Given the description of an element on the screen output the (x, y) to click on. 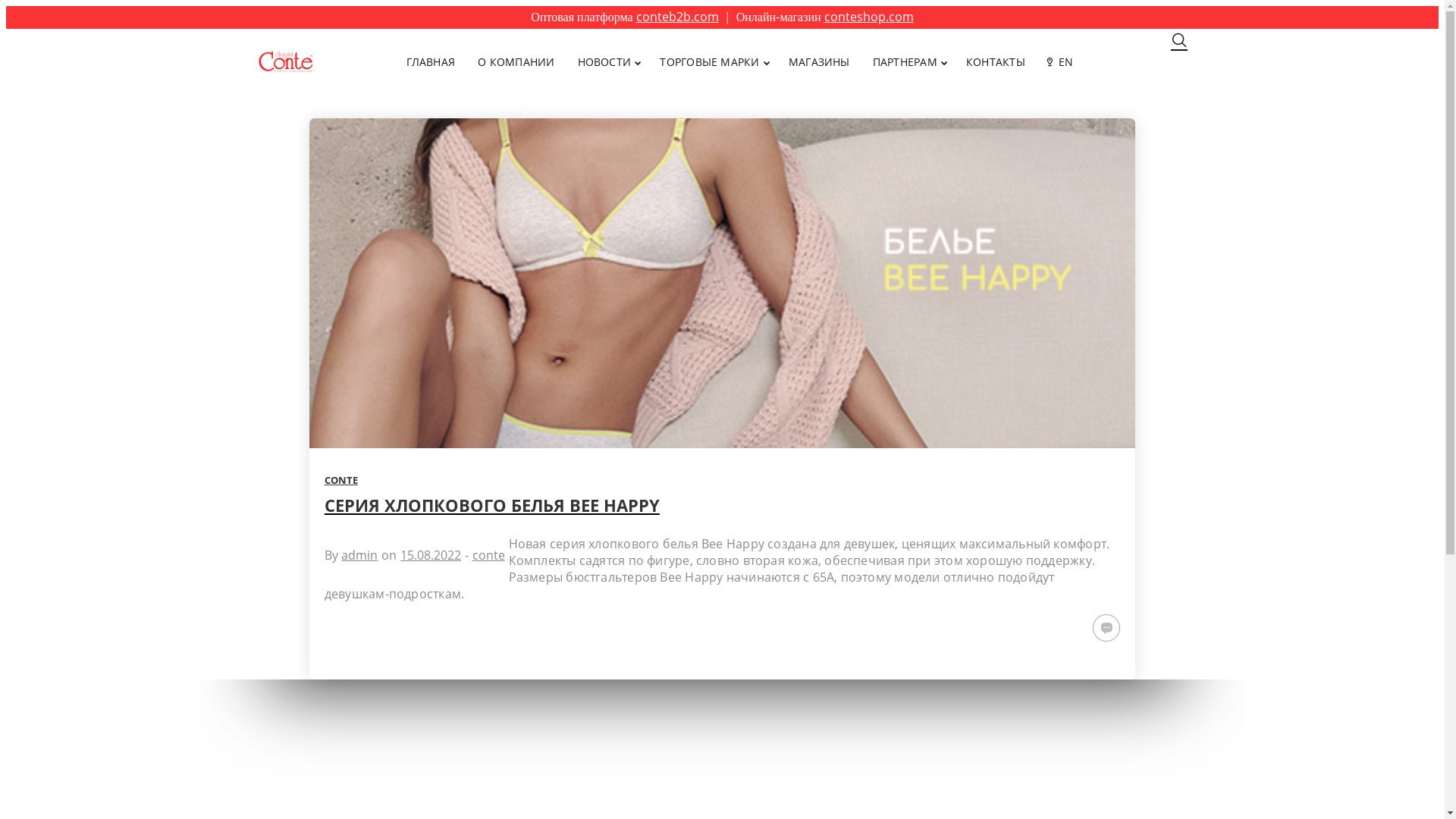
conte Element type: text (488, 554)
EN Element type: text (1060, 61)
conteb2b.com Element type: text (677, 16)
15.08.2022 Element type: text (430, 554)
CONTE Element type: text (340, 479)
admin Element type: text (359, 554)
conteshop.com Element type: text (868, 16)
